Given the description of an element on the screen output the (x, y) to click on. 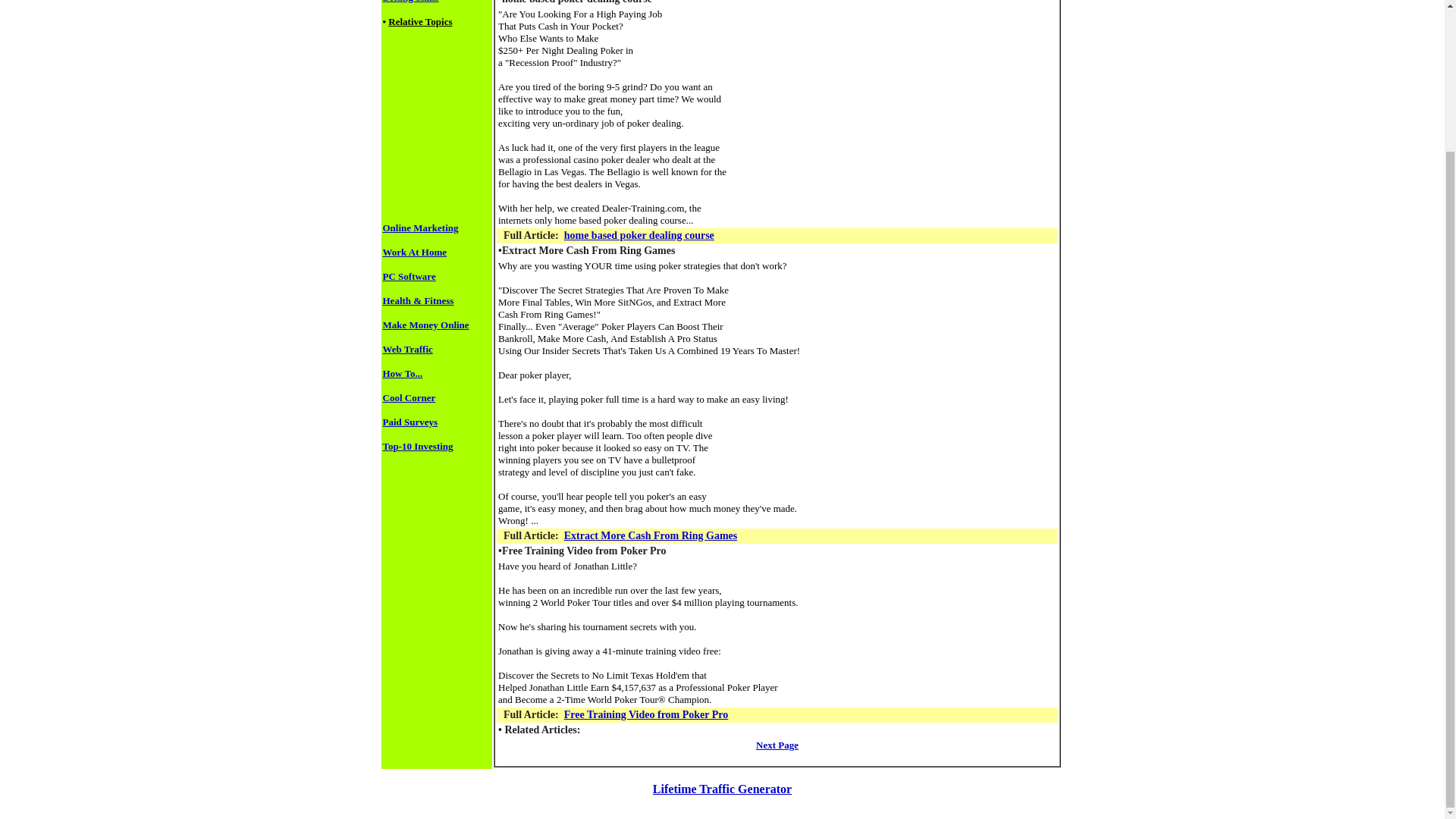
Work At Home (413, 251)
Lifetime Traffic Generator (722, 788)
Free Training Video from Poker Pro (646, 714)
Extract More Cash From Ring Games (651, 535)
home based poker dealing course (639, 235)
Betting Skills (409, 1)
Next Page (776, 745)
Make Money Online (424, 324)
How To... (401, 373)
Cool Corner (408, 397)
